Given the description of an element on the screen output the (x, y) to click on. 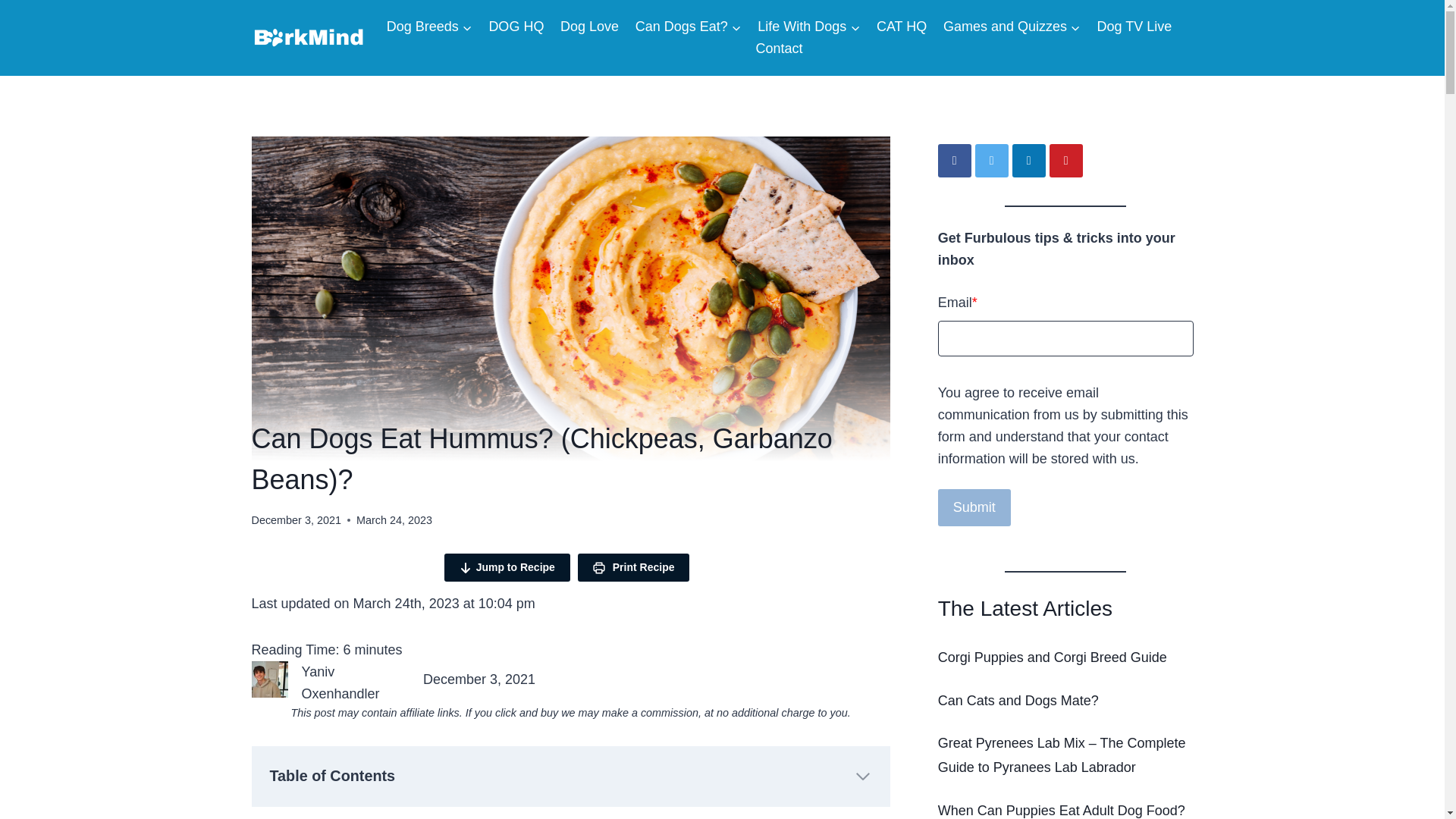
Jump to Recipe (507, 567)
CAT HQ (900, 26)
Life With Dogs (809, 26)
DOG HQ (516, 26)
Dog TV Live (1134, 26)
Can Dogs Eat? (688, 26)
Games and Quizzes (1011, 26)
Print Recipe (634, 567)
Contact (779, 48)
Dog Love (589, 26)
Dog Breeds (429, 26)
